Given the description of an element on the screen output the (x, y) to click on. 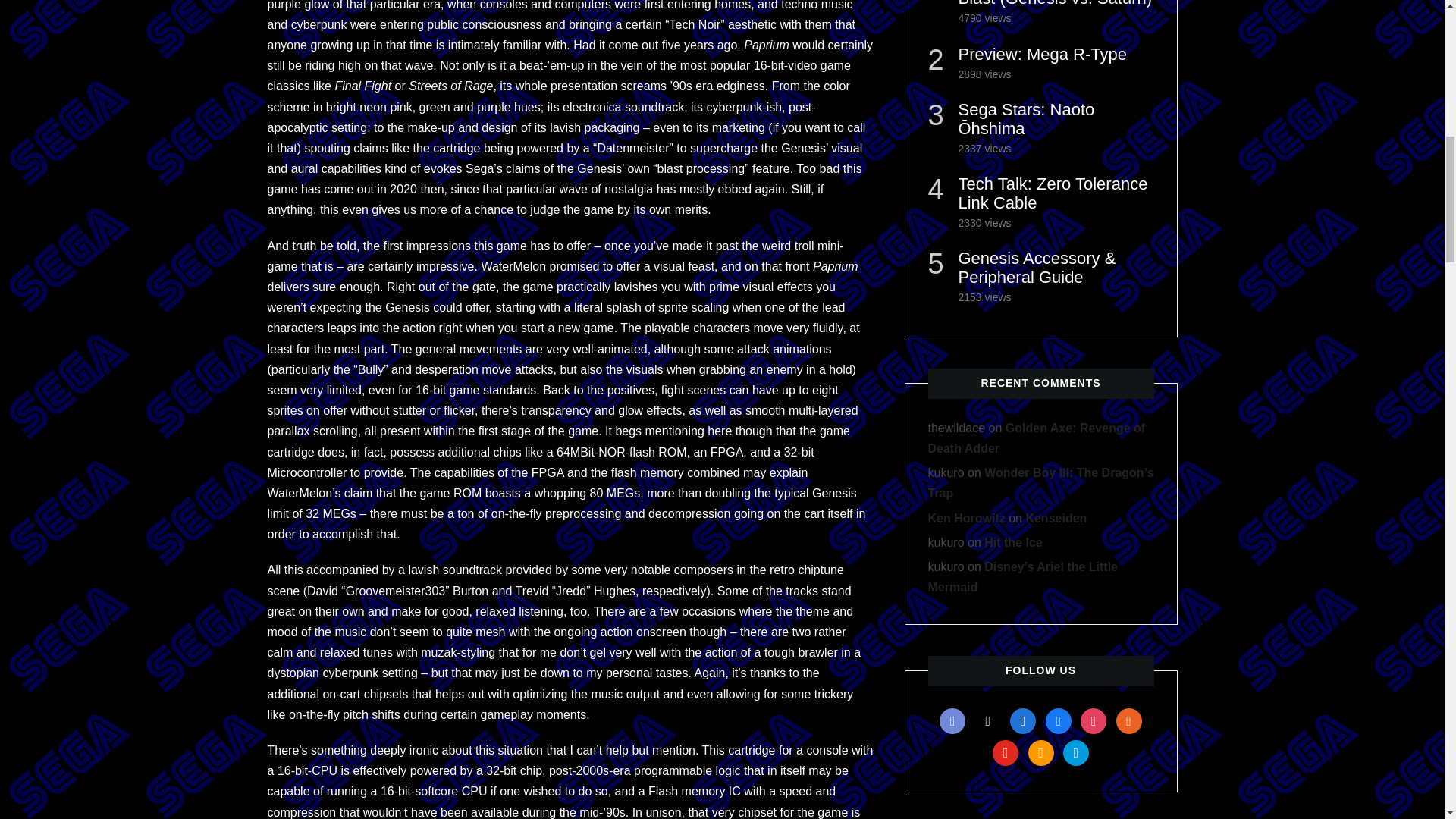
Permanent Link to Tech Talk: Zero Tolerance Link Cable (1053, 192)
Facebook (1058, 719)
Permanent Link to Preview: Mega R-Type (1042, 54)
Twitter (988, 719)
